Given the description of an element on the screen output the (x, y) to click on. 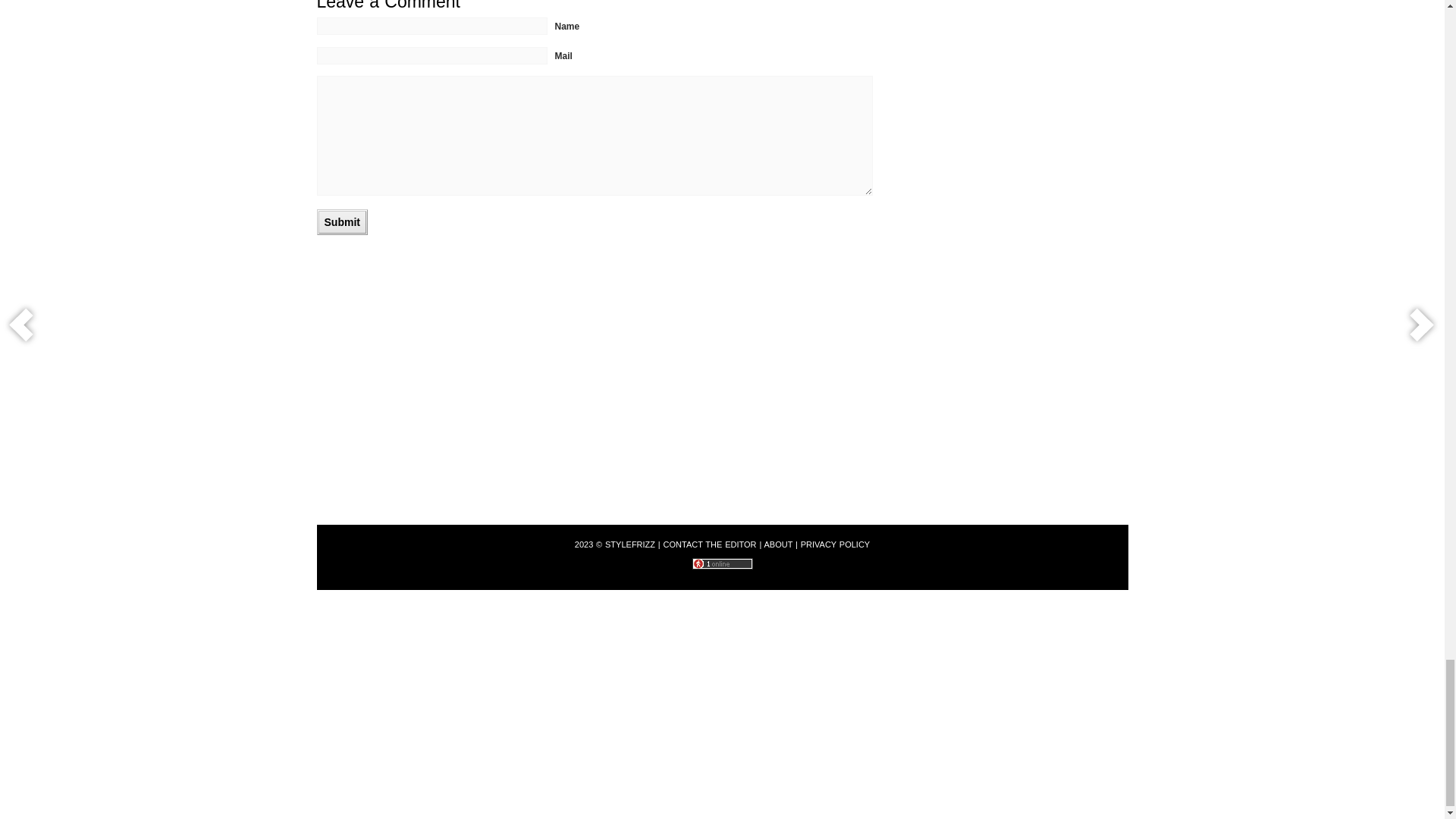
Submit (342, 222)
